Given the description of an element on the screen output the (x, y) to click on. 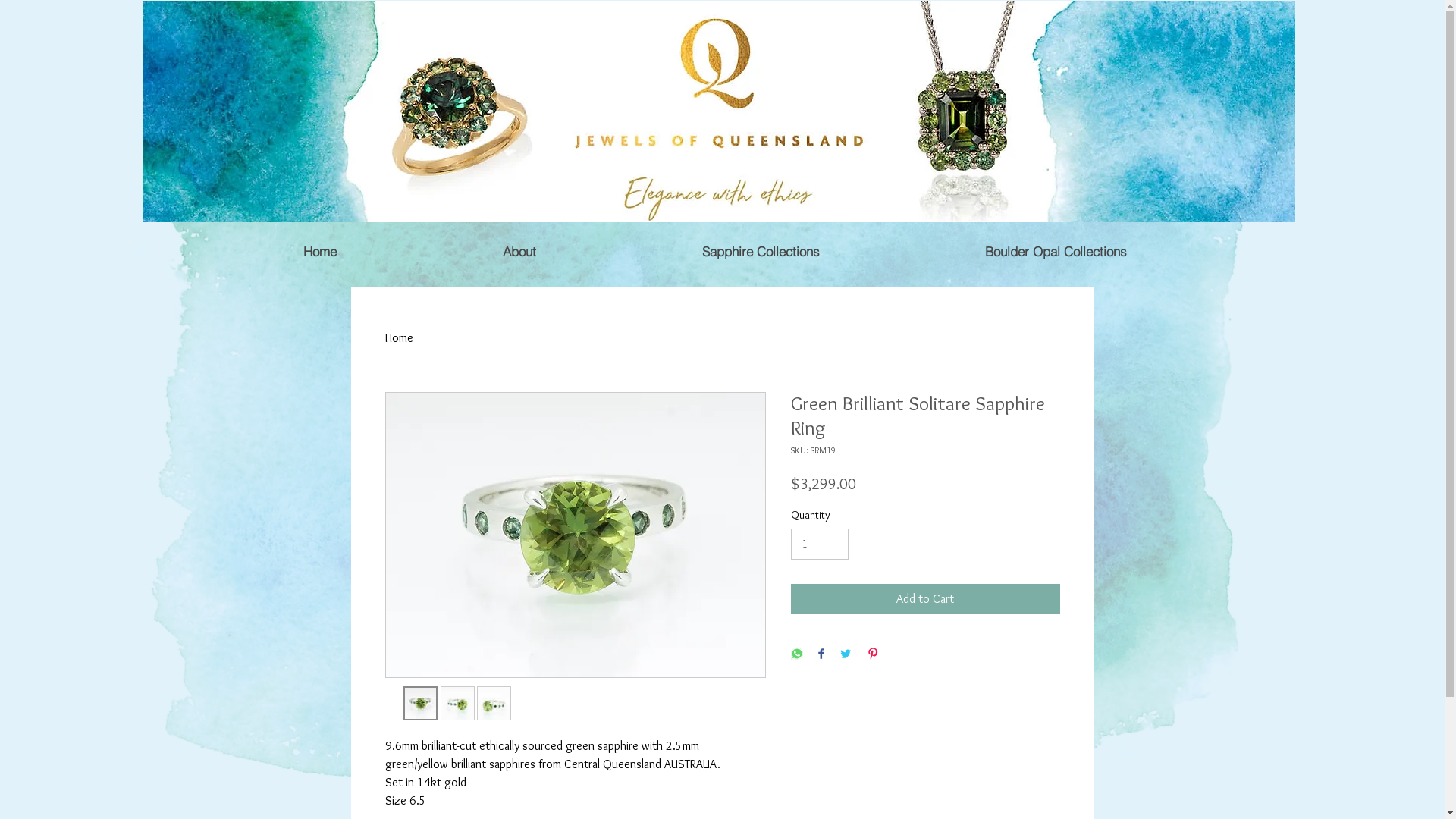
Home Element type: text (318, 251)
Log In Element type: text (961, 28)
Home Element type: text (399, 337)
0 Element type: text (1062, 23)
Sapphire Collections Element type: text (760, 251)
Boulder Opal Collections Element type: text (1055, 251)
About Element type: text (518, 251)
Add to Cart Element type: text (924, 598)
